Given the description of an element on the screen output the (x, y) to click on. 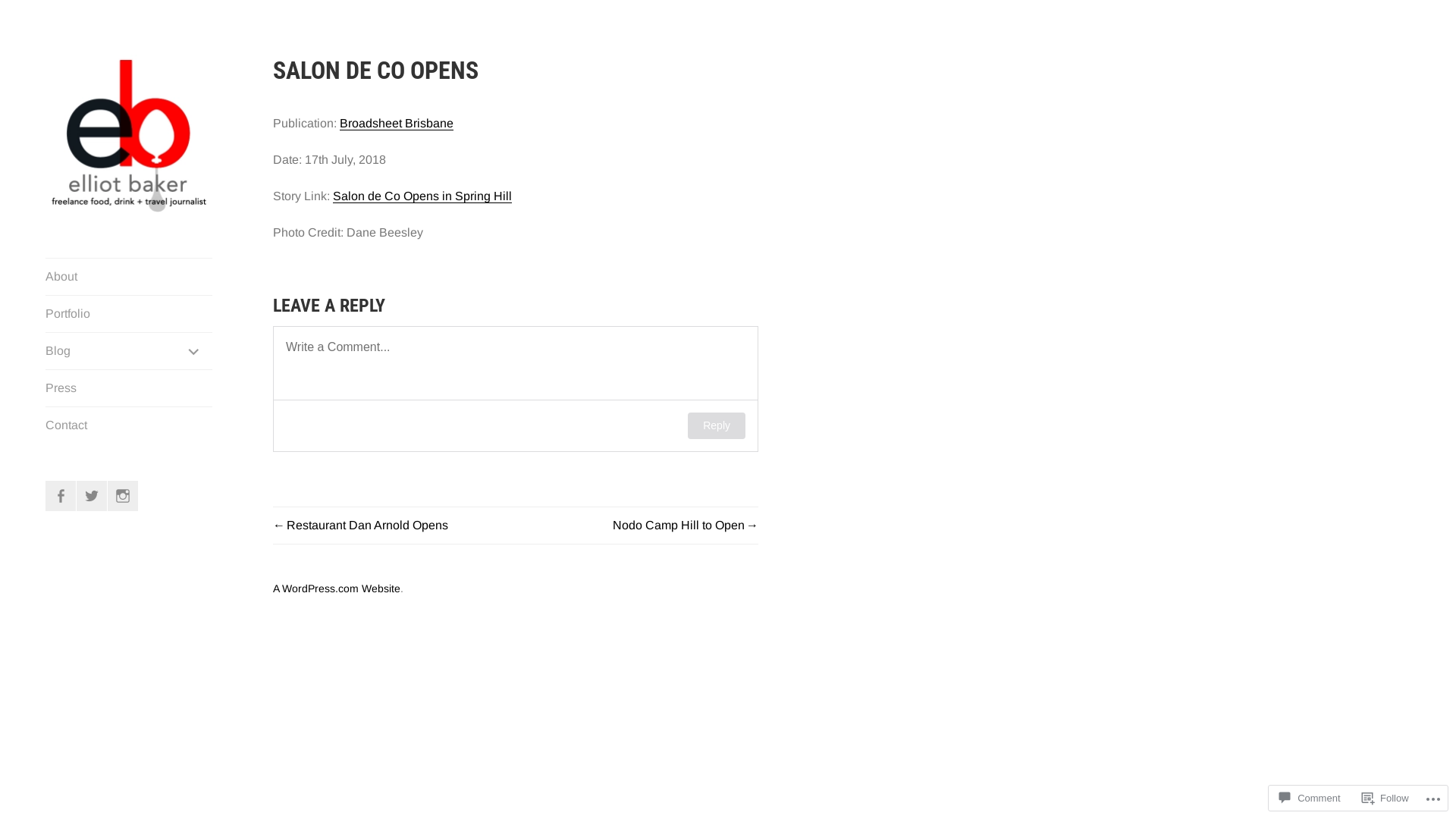
A WordPress.com Website Element type: text (336, 588)
Blog Element type: text (128, 350)
Reply Element type: text (716, 425)
Salon de Co Opens in Spring Hill Element type: text (421, 196)
Comment Element type: text (1309, 797)
About Element type: text (128, 276)
Portfolio Element type: text (128, 313)
Follow Element type: text (1385, 797)
Broadsheet Brisbane Element type: text (396, 123)
Contact Element type: text (128, 425)
Press Element type: text (128, 388)
Restaurant Dan Arnold Opens Element type: text (360, 524)
Nodo Camp Hill to Open Element type: text (685, 524)
